Given the description of an element on the screen output the (x, y) to click on. 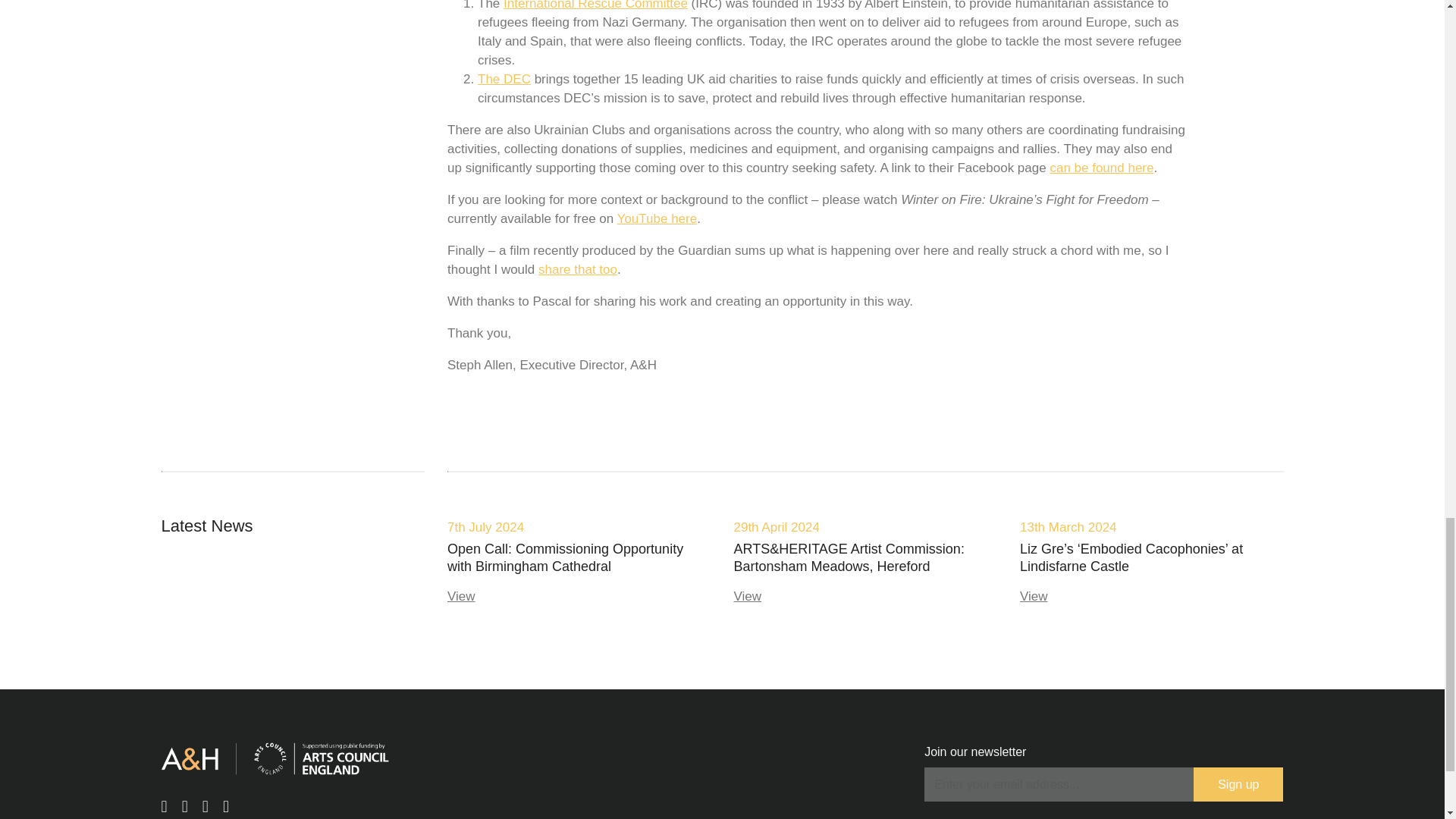
View (1034, 596)
View (747, 596)
The DEC (504, 79)
YouTube here (657, 218)
can be found here (1101, 167)
share that too (577, 269)
View (461, 596)
International Rescue Committee (595, 5)
Sign up (1237, 784)
Sign up (1237, 784)
